Given the description of an element on the screen output the (x, y) to click on. 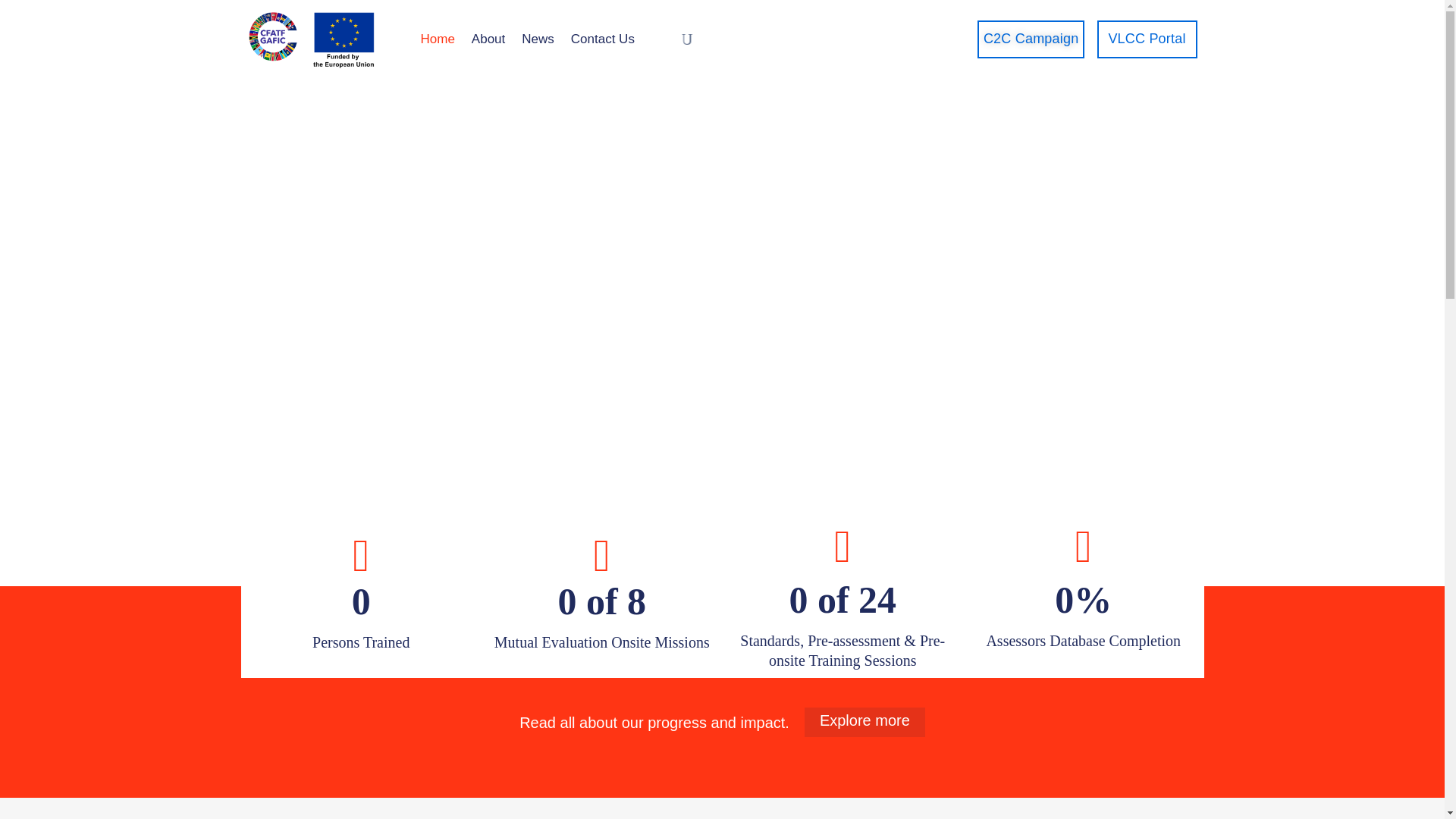
Explore more (864, 722)
C2C Campaign (1030, 39)
Contact Us (602, 39)
Search (1059, 409)
VLCC Portal (1146, 39)
